Given the description of an element on the screen output the (x, y) to click on. 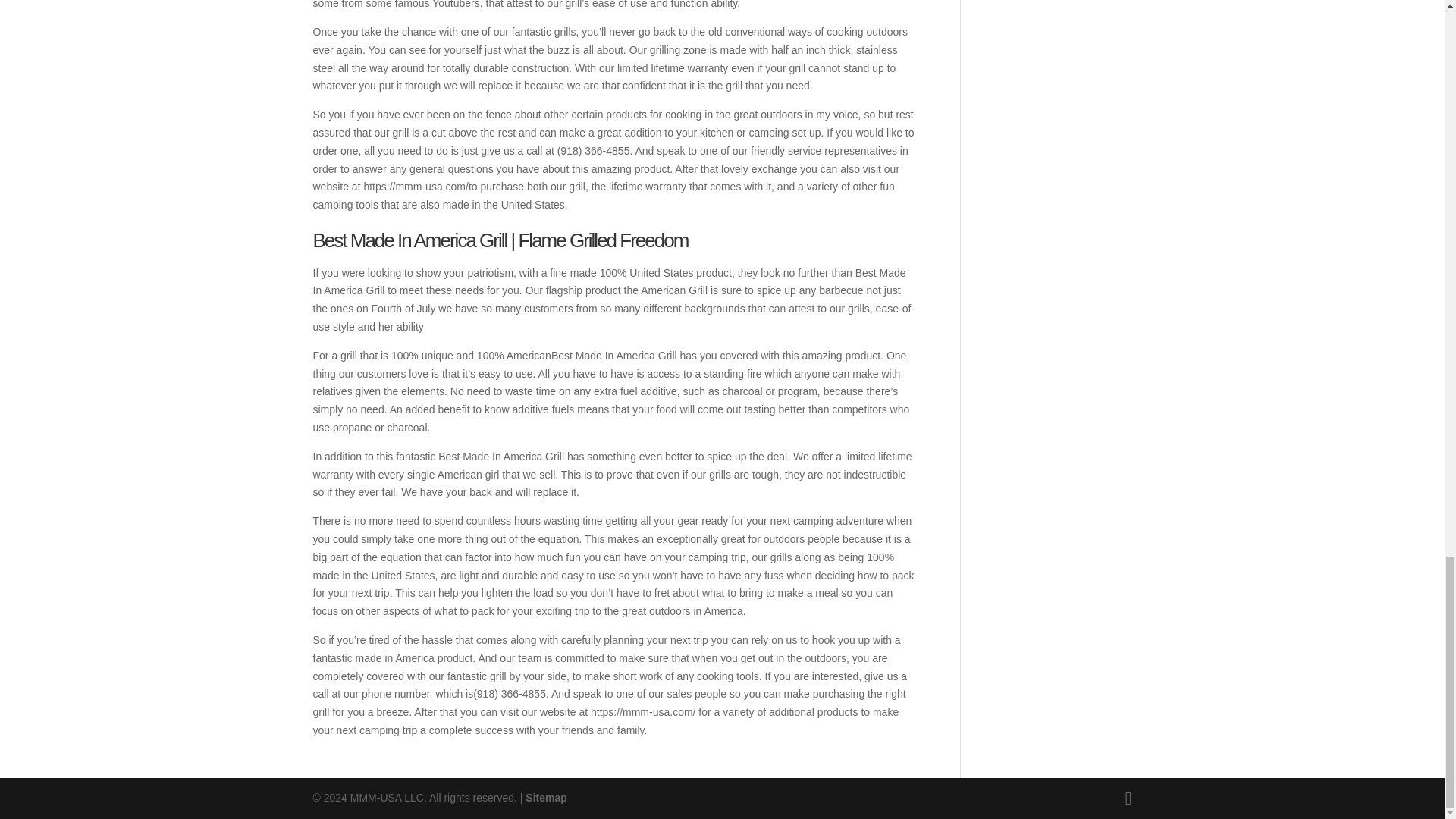
Sitemap (545, 797)
